Given the description of an element on the screen output the (x, y) to click on. 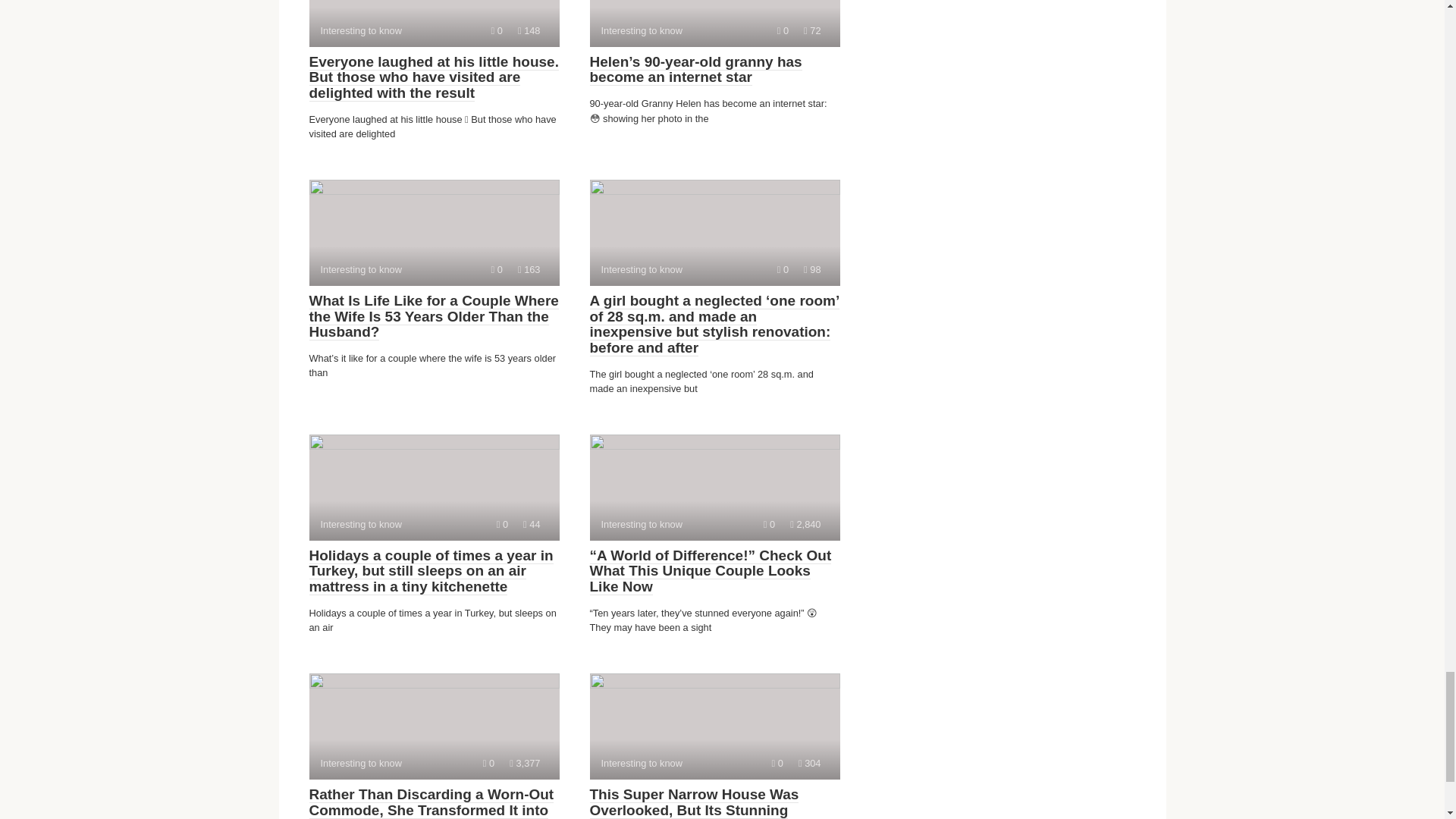
Comments (497, 30)
Comments (433, 726)
Views (489, 763)
Comments (531, 523)
Views (783, 30)
